Given the description of an element on the screen output the (x, y) to click on. 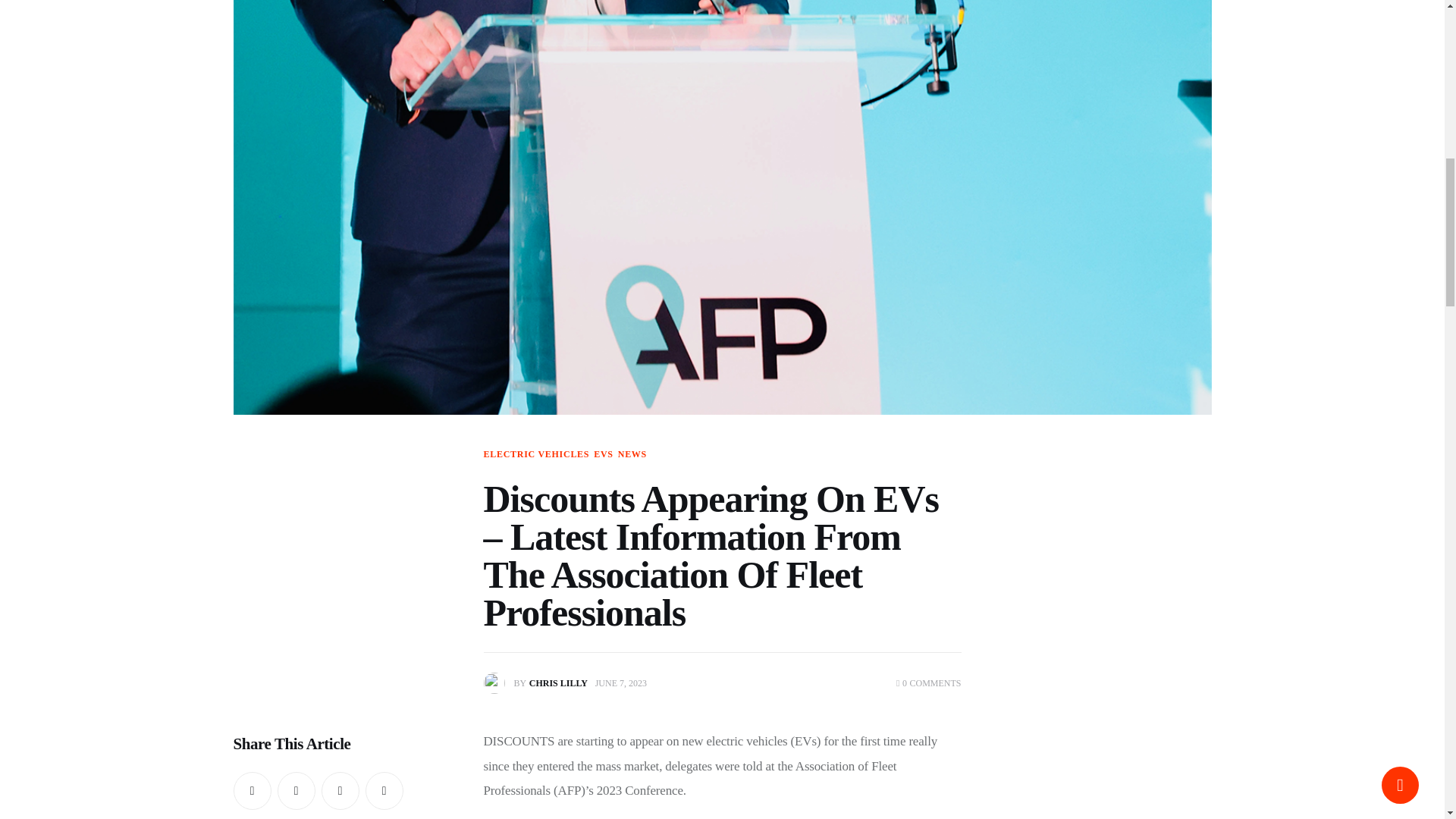
Copy URL to clipboard (384, 790)
